Given the description of an element on the screen output the (x, y) to click on. 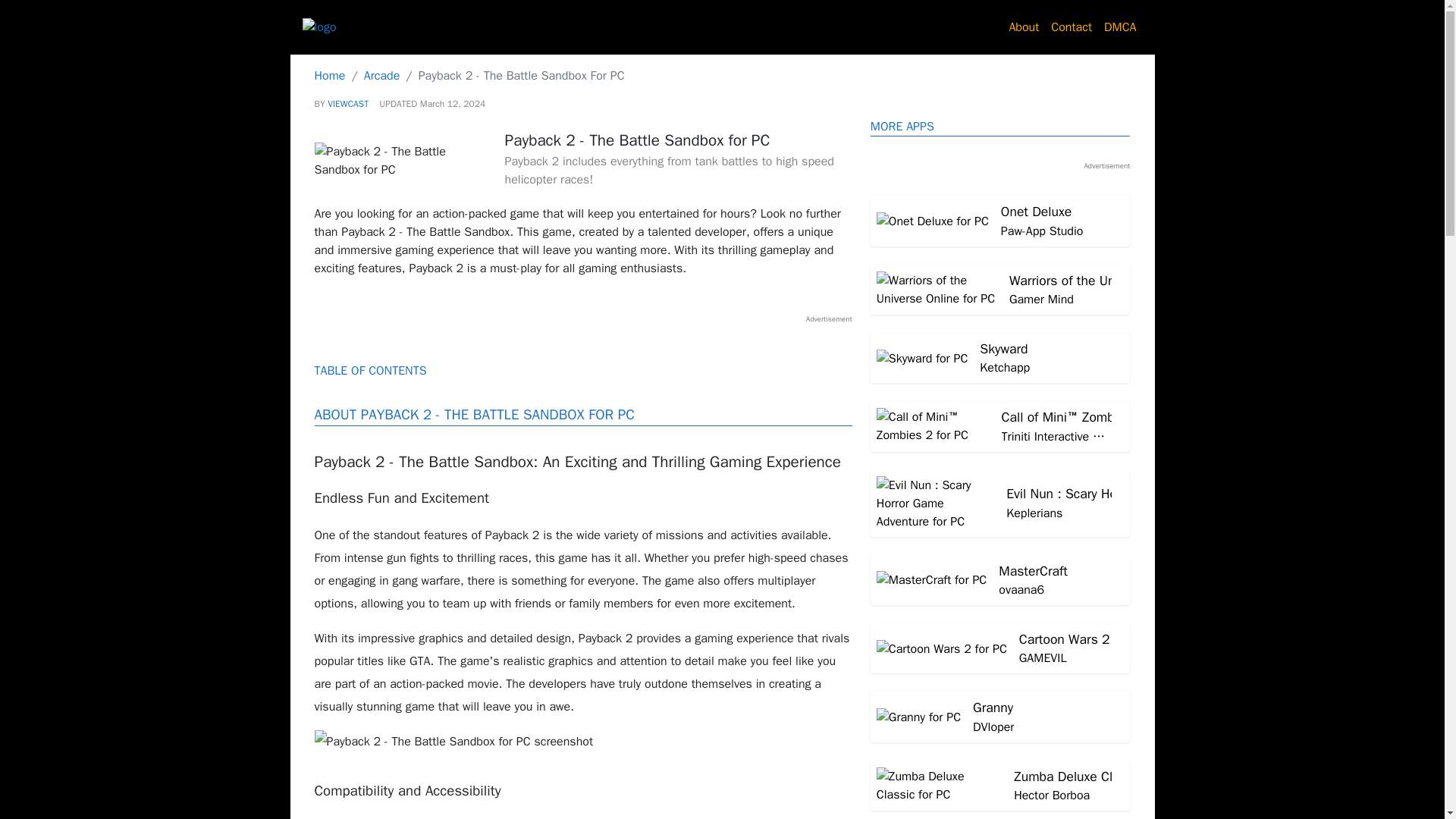
Home (329, 75)
DMCA (1119, 27)
Contact (1071, 27)
Zumba Deluxe Classic for PC (1000, 785)
Cartoon Wars 2 for PC (1000, 648)
Skyward for PC (1000, 357)
Arcade (382, 75)
VIEWCAST (347, 103)
